Given the description of an element on the screen output the (x, y) to click on. 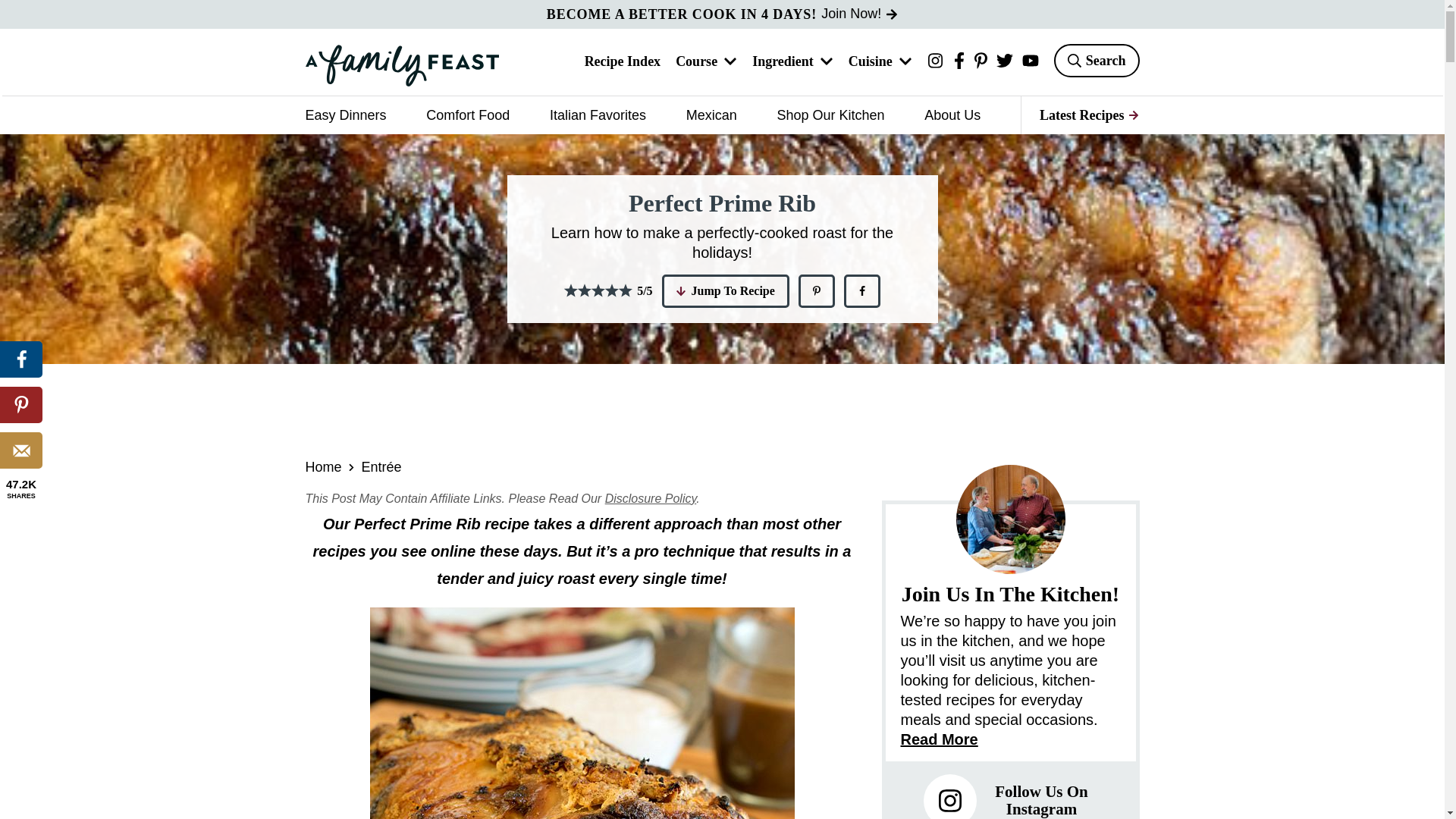
Join Now! (859, 13)
Share on Facebook (21, 359)
Share on Facebook (862, 290)
Send over email (21, 450)
Save to Pinterest (21, 404)
Recipe Index (623, 62)
Save to Pinterest (815, 290)
